Given the description of an element on the screen output the (x, y) to click on. 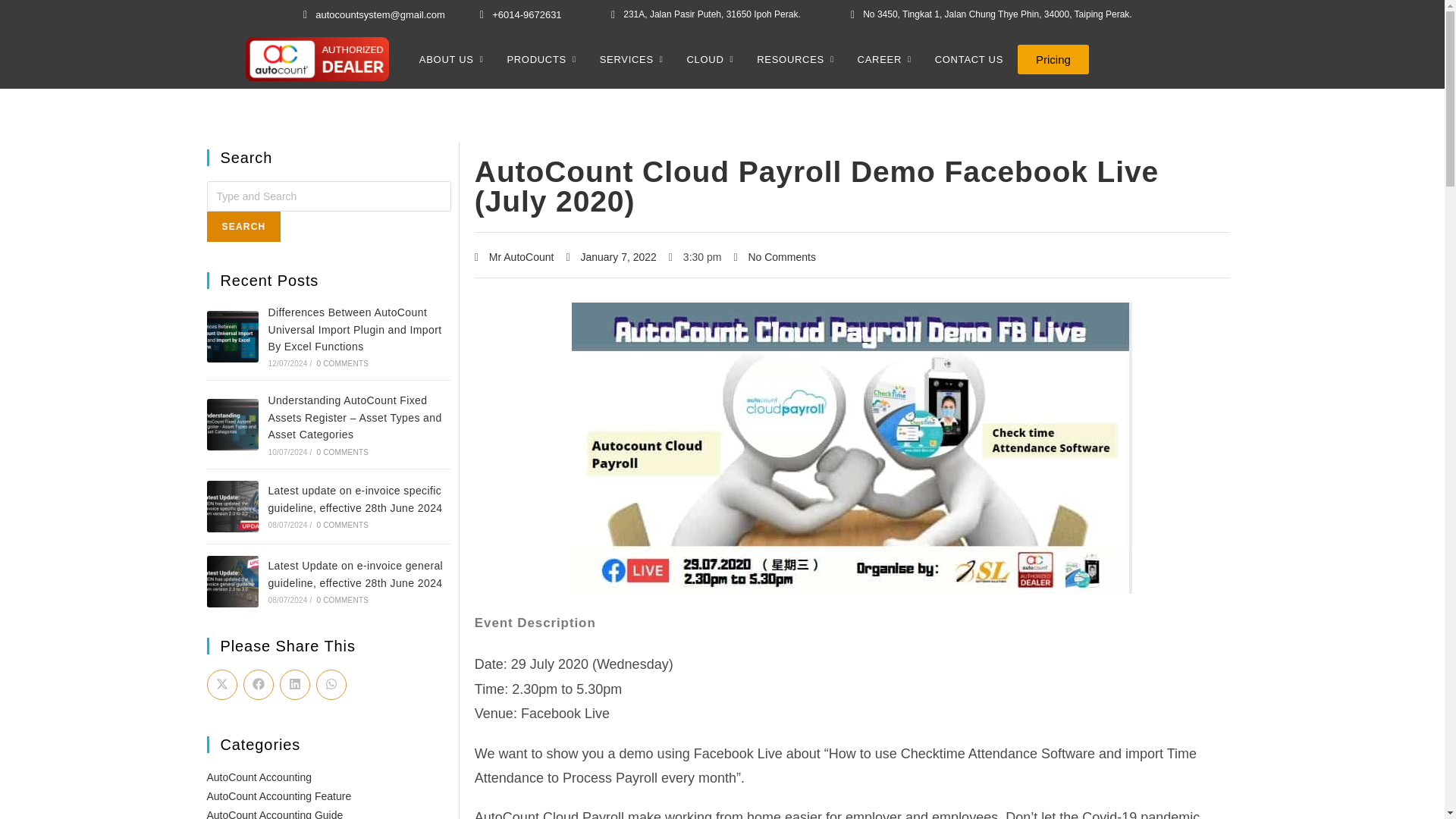
231A, Jalan Pasir Puteh, 31650 Ipoh Perak. (703, 14)
SERVICES (635, 59)
RESOURCES (799, 59)
Share on WhatsApp (330, 684)
CONTACT US (969, 59)
ABOUT US (456, 59)
CLOUD (714, 59)
Share on LinkedIn (293, 684)
Share on X (220, 684)
CAREER (889, 59)
PRODUCTS (545, 59)
Share on Facebook (258, 684)
